Given the description of an element on the screen output the (x, y) to click on. 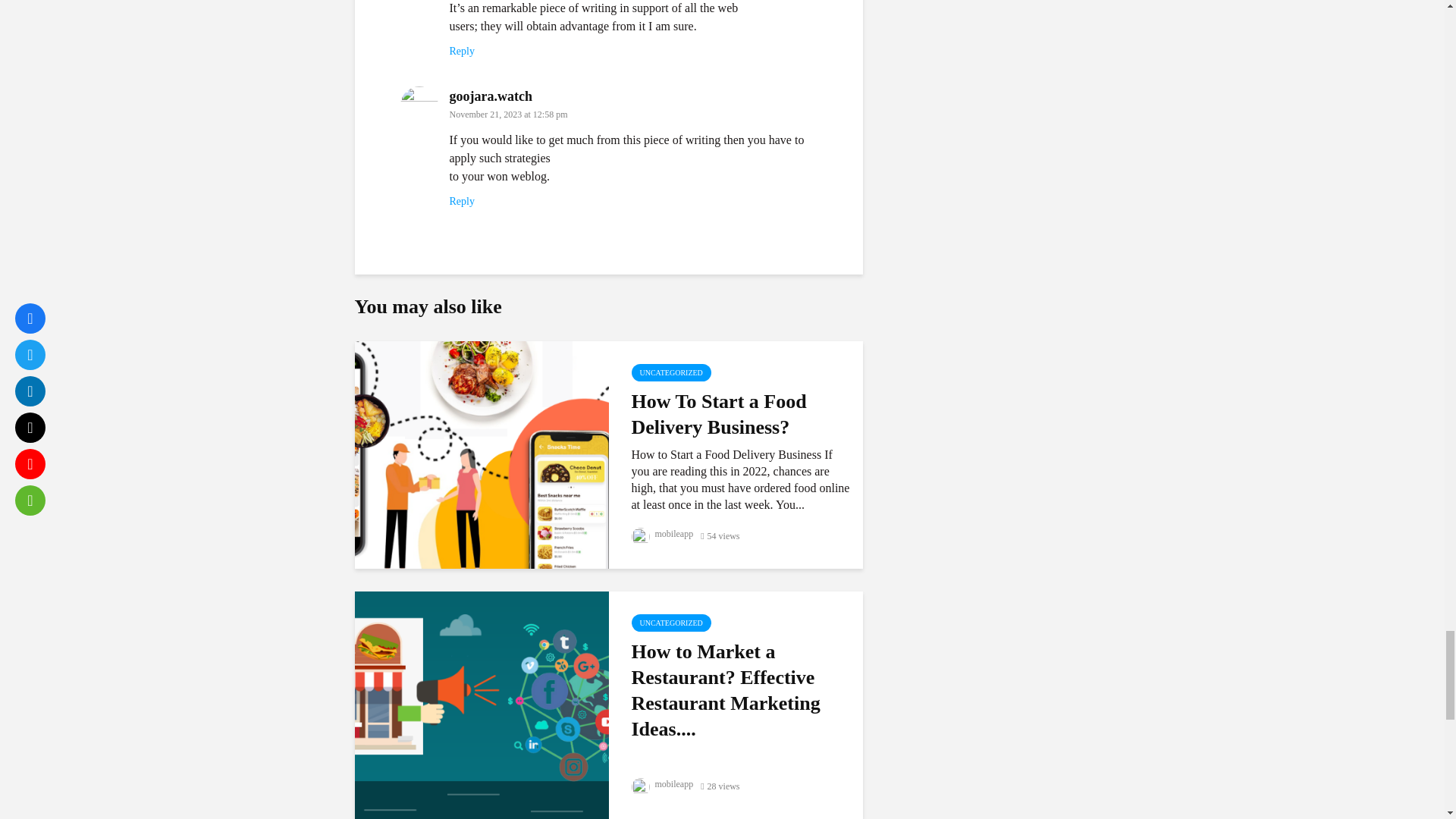
How To Start a Food Delivery Business? (481, 453)
